Given the description of an element on the screen output the (x, y) to click on. 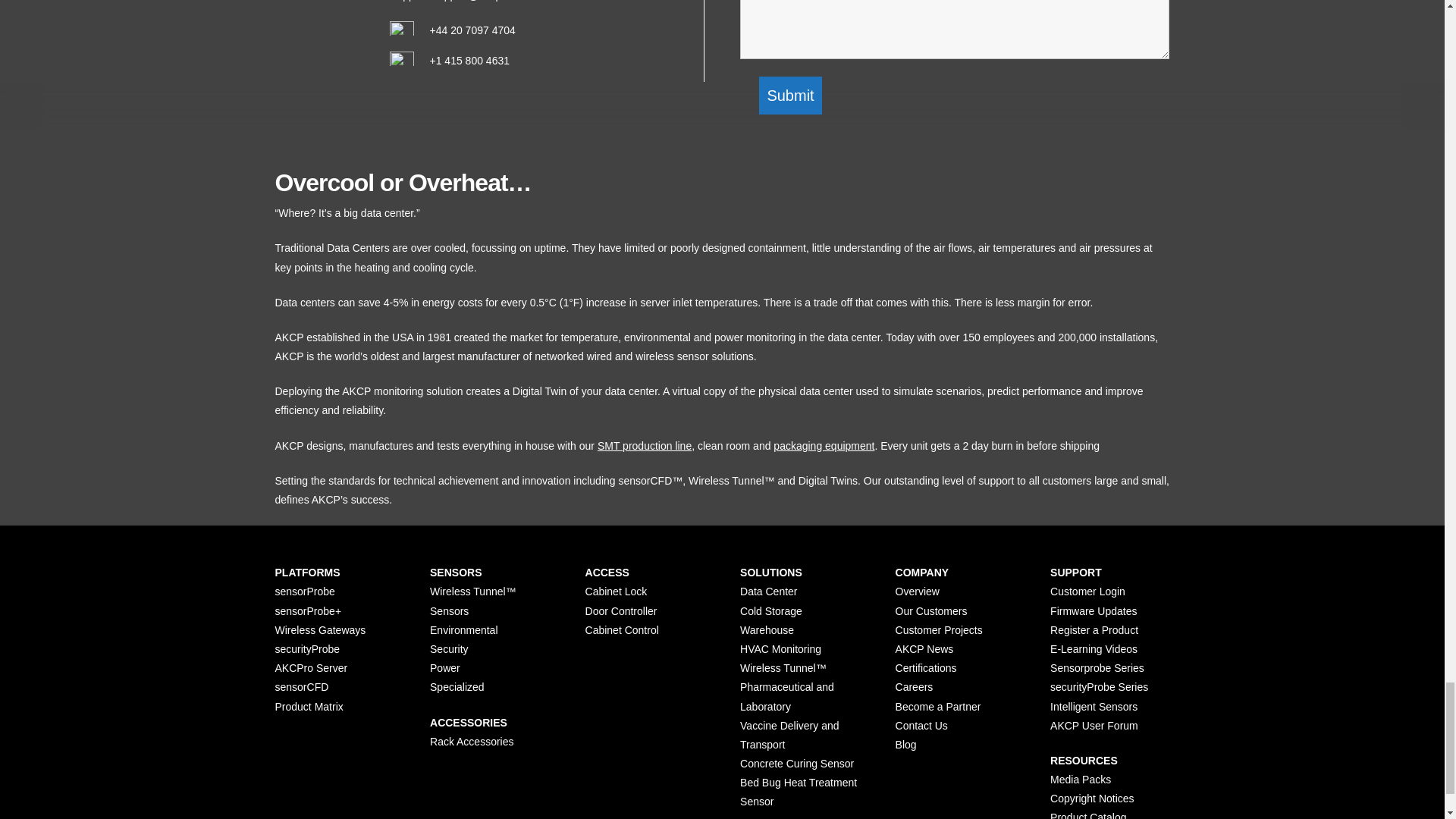
Submit (789, 95)
